Given the description of an element on the screen output the (x, y) to click on. 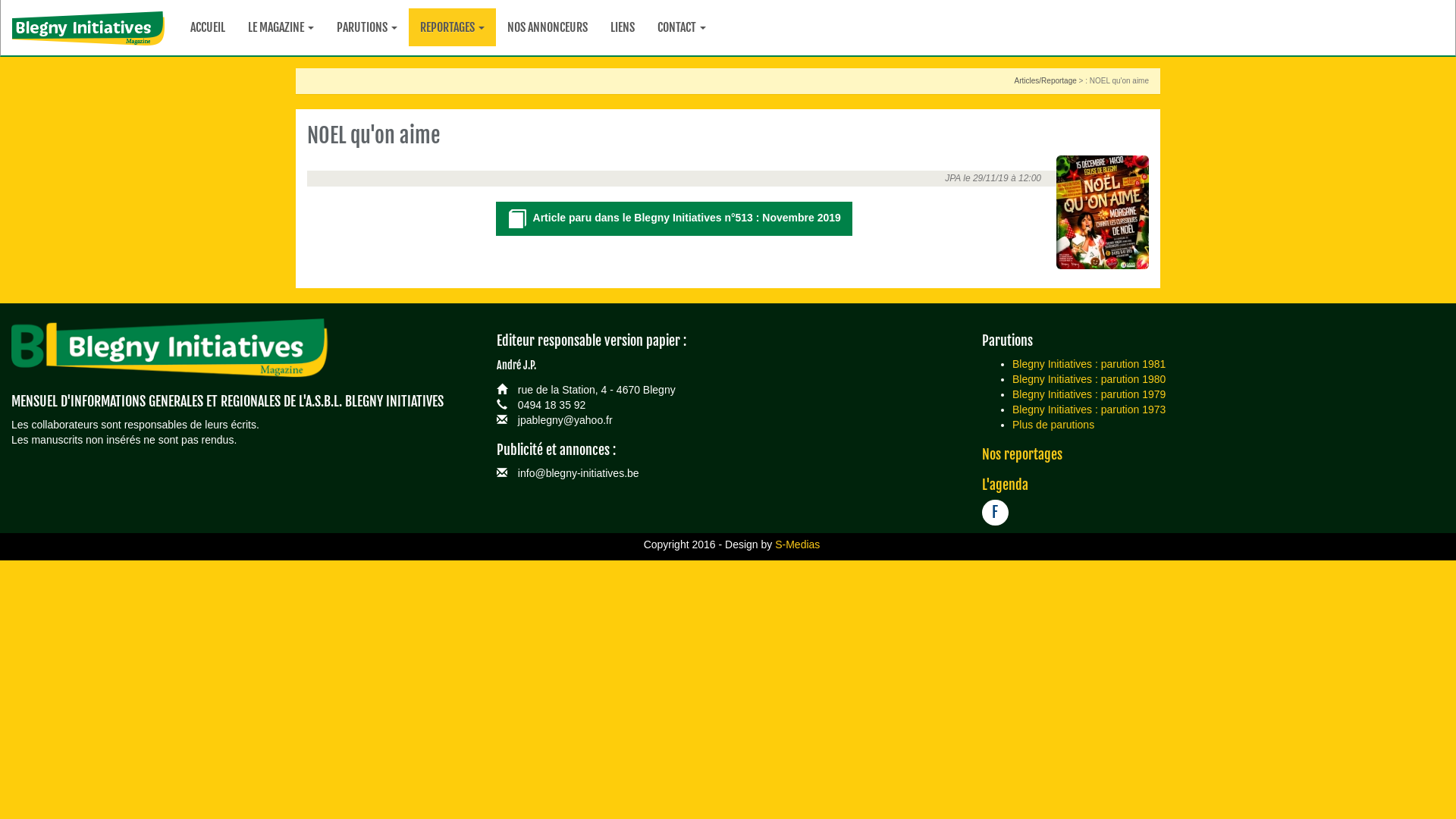
REPORTAGES Element type: text (451, 27)
Nos reportages Element type: text (1022, 453)
Plus de parutions Element type: text (1053, 424)
ACCUEIL Element type: text (207, 27)
Blegny Initiatives : parution 1980 Element type: text (1088, 379)
PARUTIONS Element type: text (366, 27)
CONTACT Element type: text (681, 27)
NOS ANNONCEURS Element type: text (547, 27)
LIENS Element type: text (622, 27)
Blegny Initiatives : parution 1981 Element type: text (1088, 363)
F Element type: text (995, 512)
Blegny Initiatives : parution 1973 Element type: text (1088, 409)
NOEL qu'on aime Element type: hover (1102, 212)
Blegny Initiatives : parution 1979 Element type: text (1088, 394)
S-Medias Element type: text (797, 544)
LE MAGAZINE Element type: text (280, 27)
L'agenda Element type: text (1005, 484)
Articles/Reportage Element type: text (1045, 80)
